Given the description of an element on the screen output the (x, y) to click on. 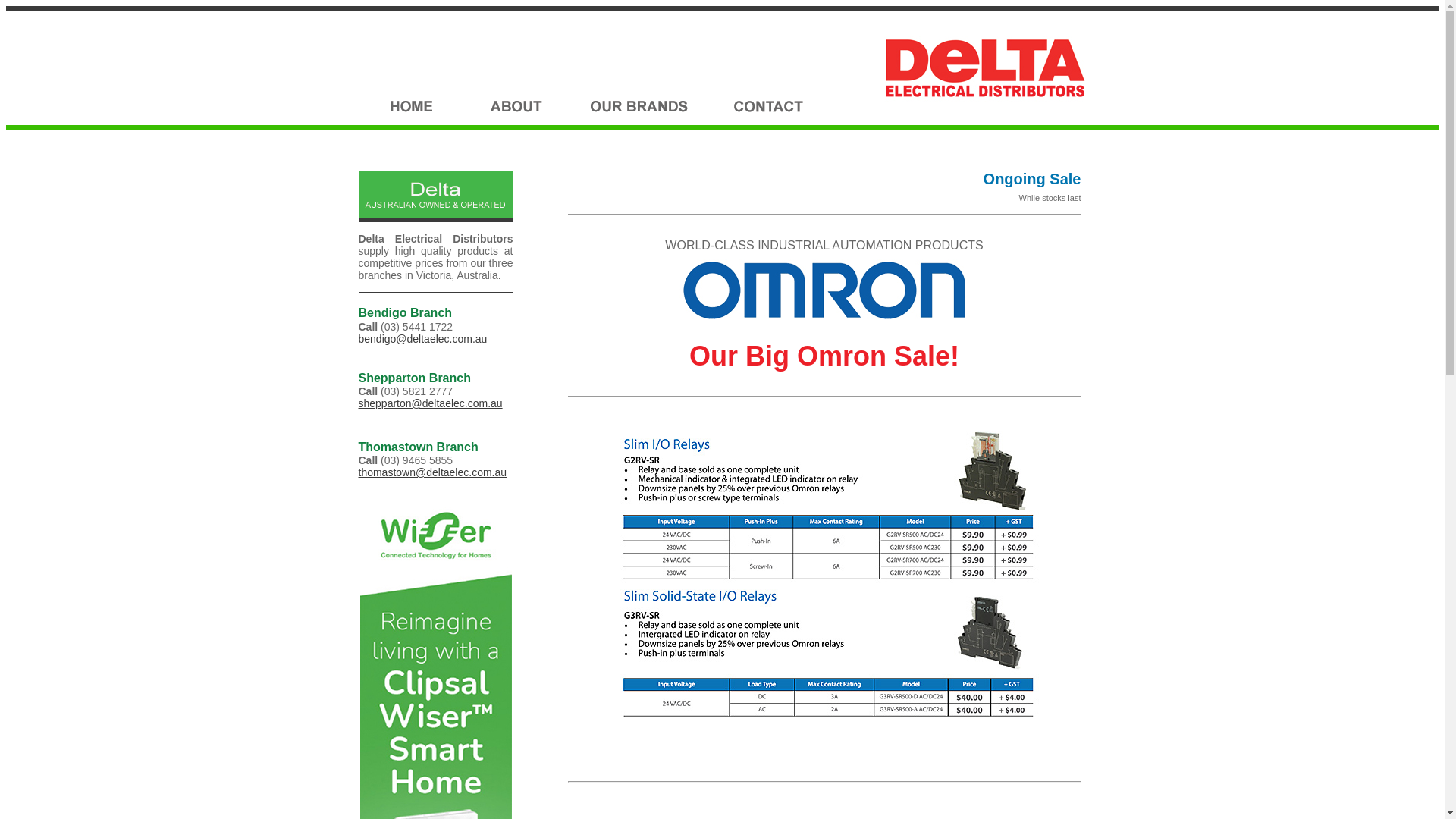
bendigo@deltaelec.com.au Element type: text (421, 338)
shepparton@deltaelec.com.au Element type: text (429, 403)
thomastown@deltaelec.com.au Element type: text (431, 472)
